Given the description of an element on the screen output the (x, y) to click on. 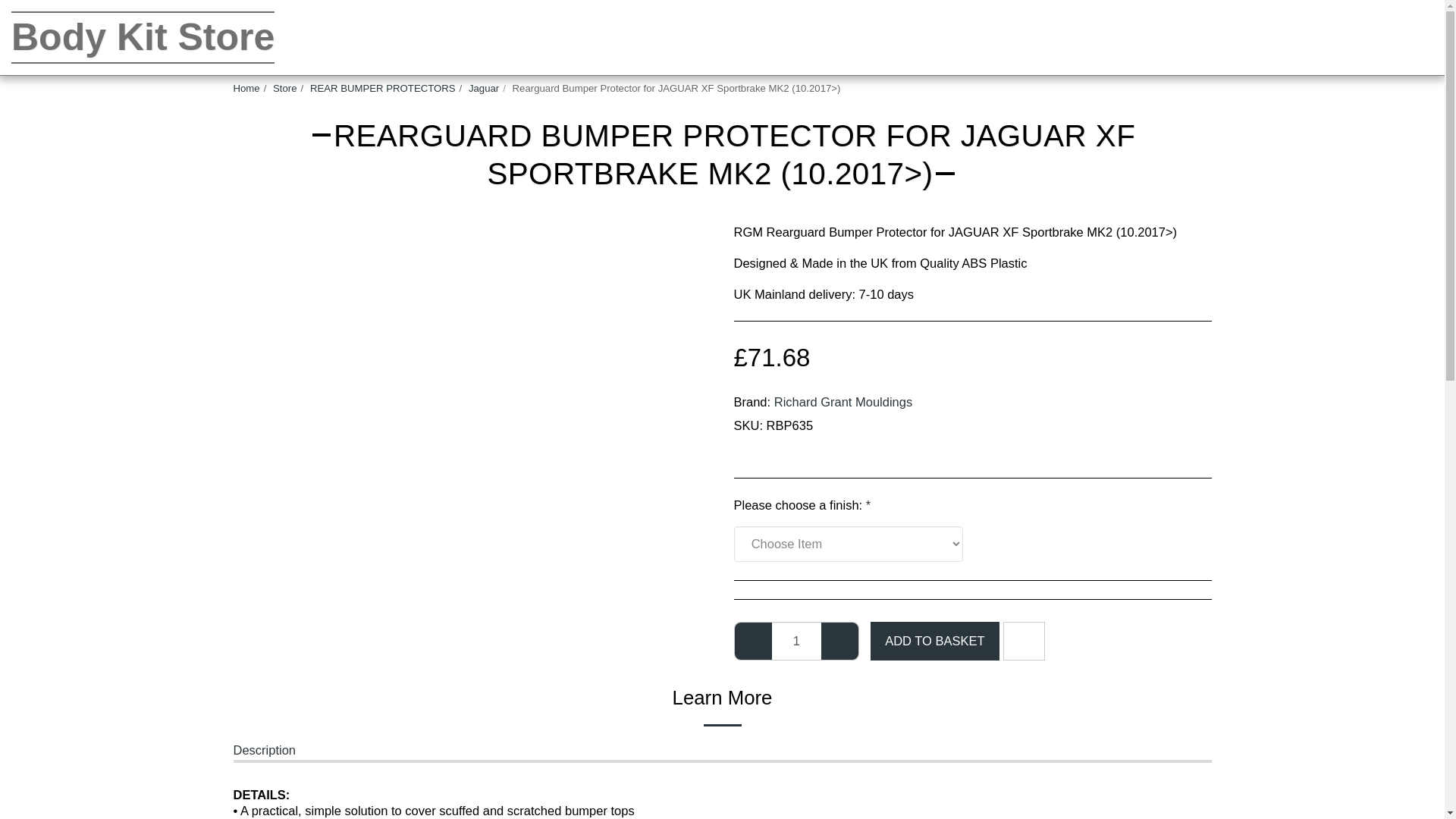
Store (285, 88)
Body Kit Store (143, 38)
1 (796, 640)
ADD TO BASKET (934, 640)
Home (246, 88)
REAR BUMPER PROTECTORS (382, 88)
Description (264, 752)
Jaguar (483, 88)
Richard Grant Mouldings (843, 401)
